Given the description of an element on the screen output the (x, y) to click on. 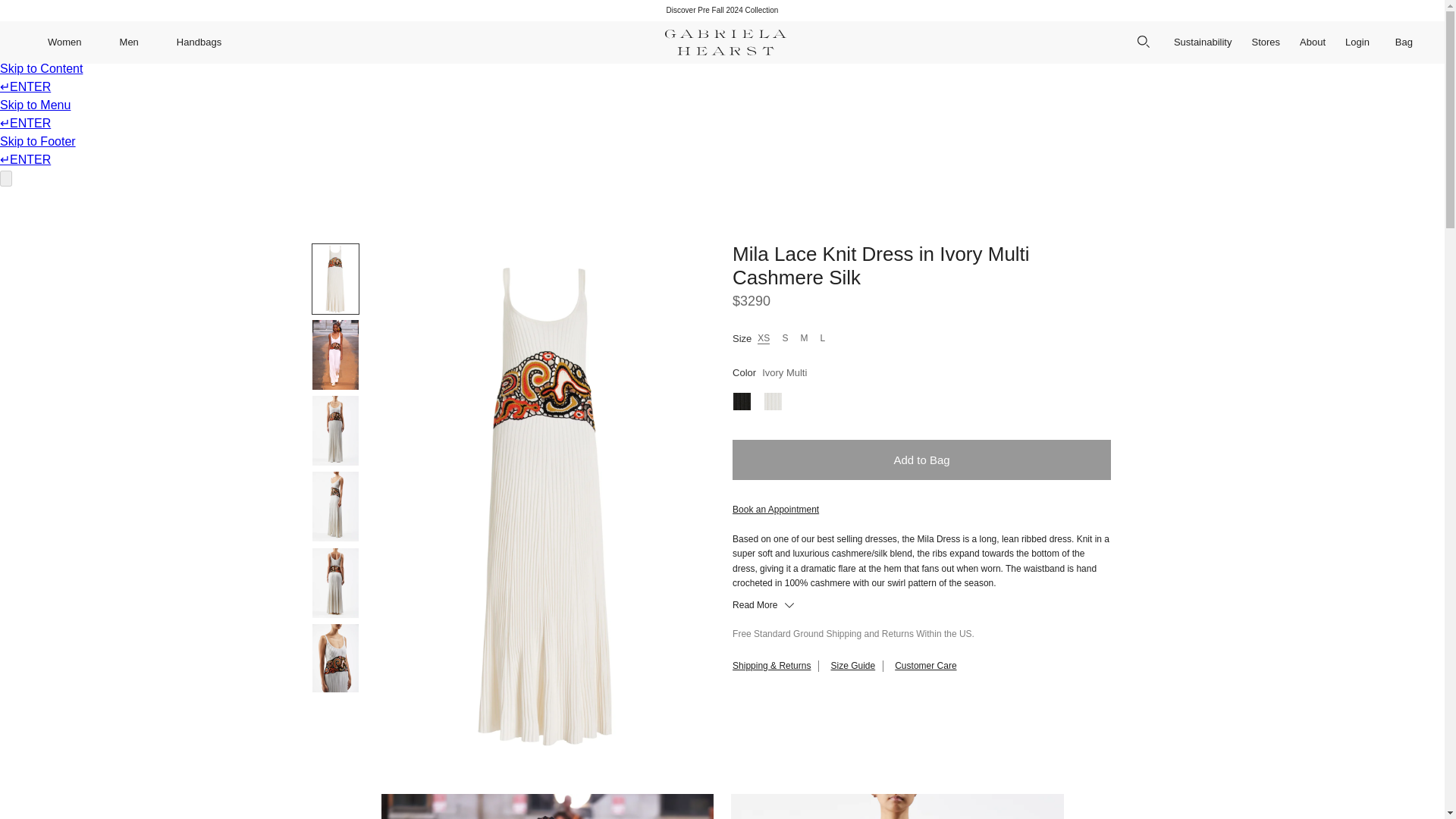
Women (64, 42)
Go to Size Guide (852, 665)
Gabriela Hearst (724, 42)
Go to Customer Care (925, 665)
